Given the description of an element on the screen output the (x, y) to click on. 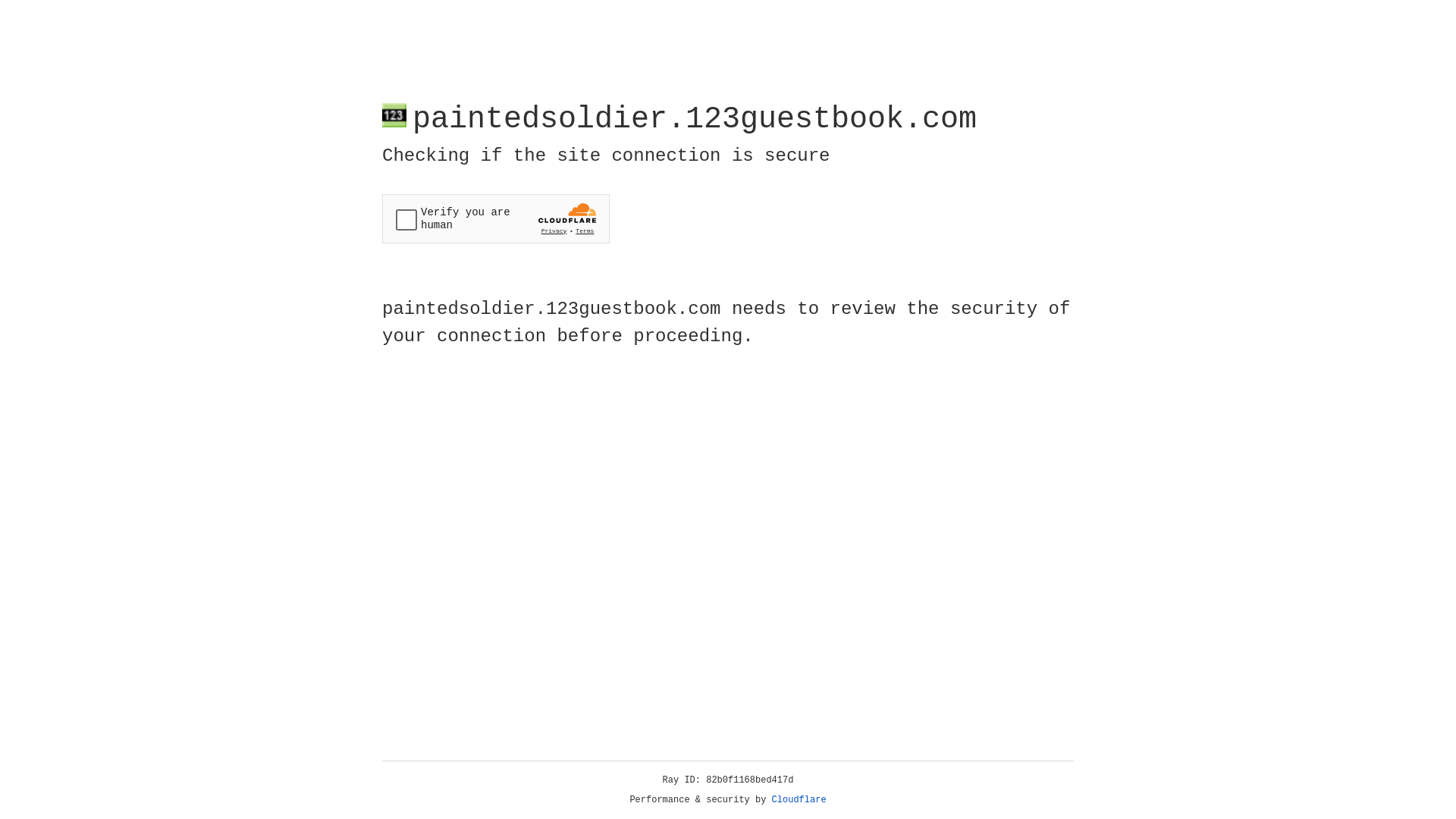
Widget containing a Cloudflare security challenge Element type: hover (495, 218)
Cloudflare Element type: text (798, 799)
